Given the description of an element on the screen output the (x, y) to click on. 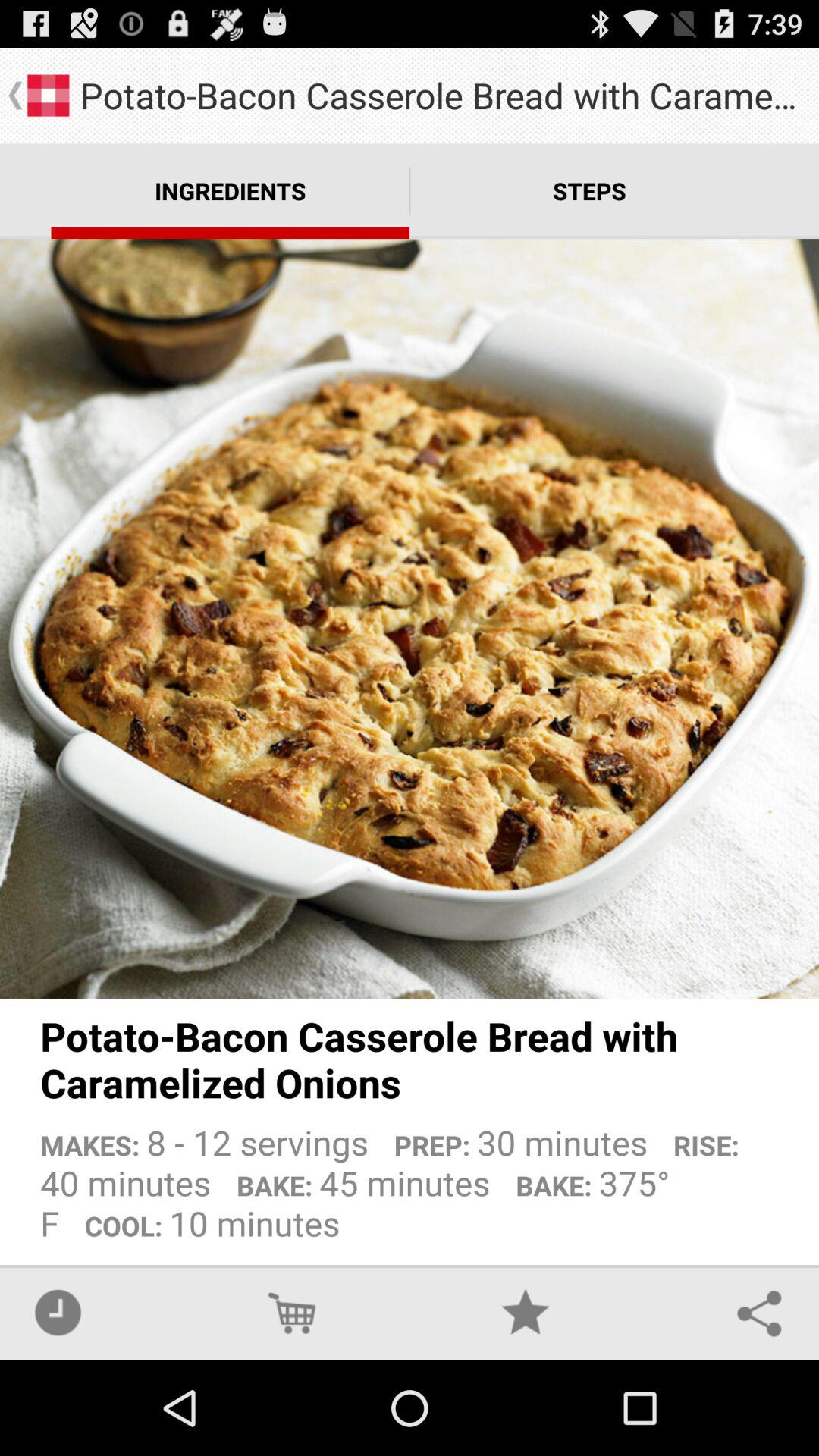
open the app below makes 8 12 icon (759, 1312)
